Given the description of an element on the screen output the (x, y) to click on. 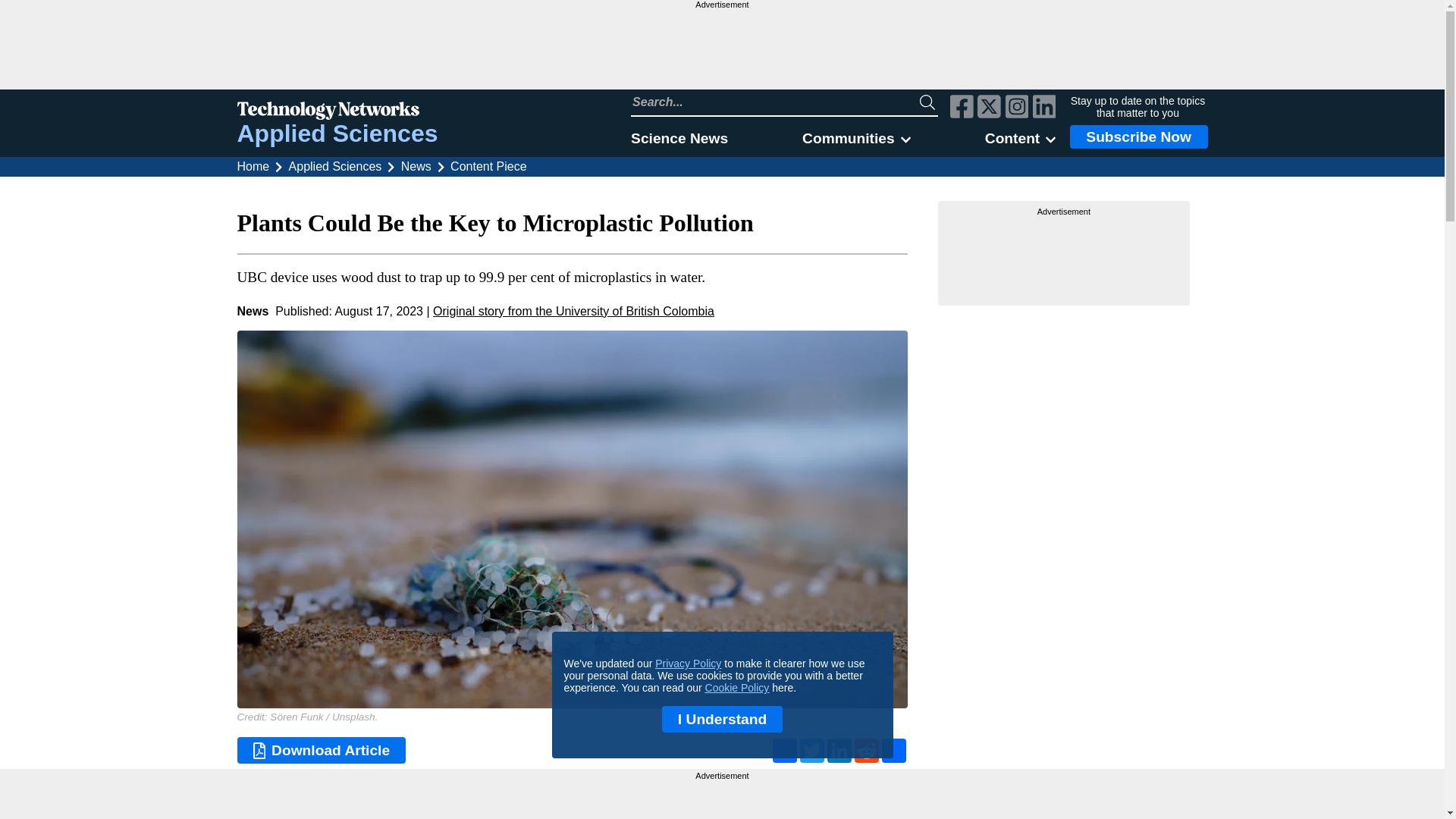
Click here to visit the original source for this content. (573, 310)
Cookie Policy (737, 687)
I Understand (722, 718)
Privacy Policy (687, 663)
Technology Networks logo (336, 112)
Search Technology Networks website input field (775, 102)
